Given the description of an element on the screen output the (x, y) to click on. 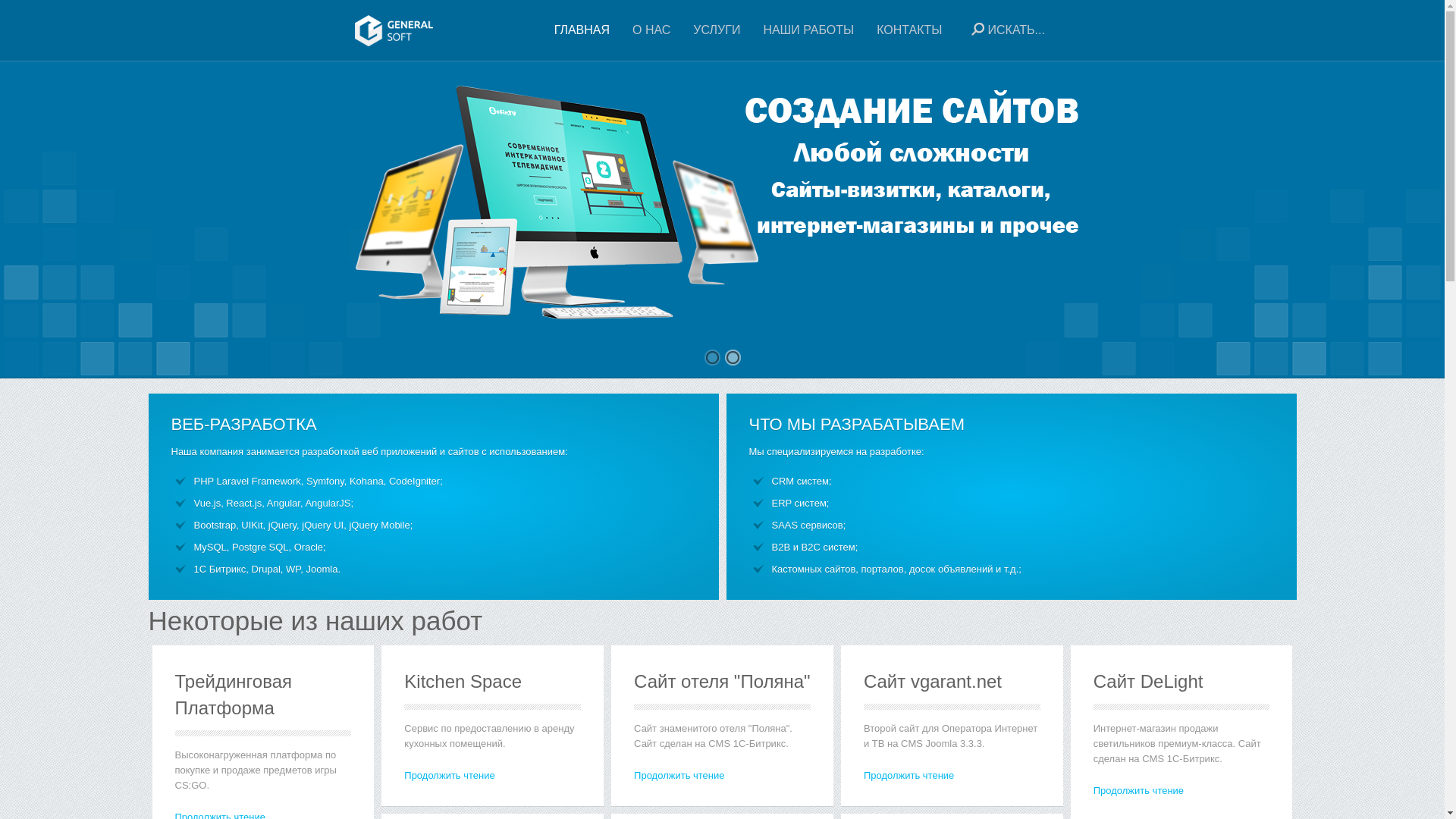
Kitchen Space Element type: text (462, 681)
Reset Element type: text (3, 3)
